Given the description of an element on the screen output the (x, y) to click on. 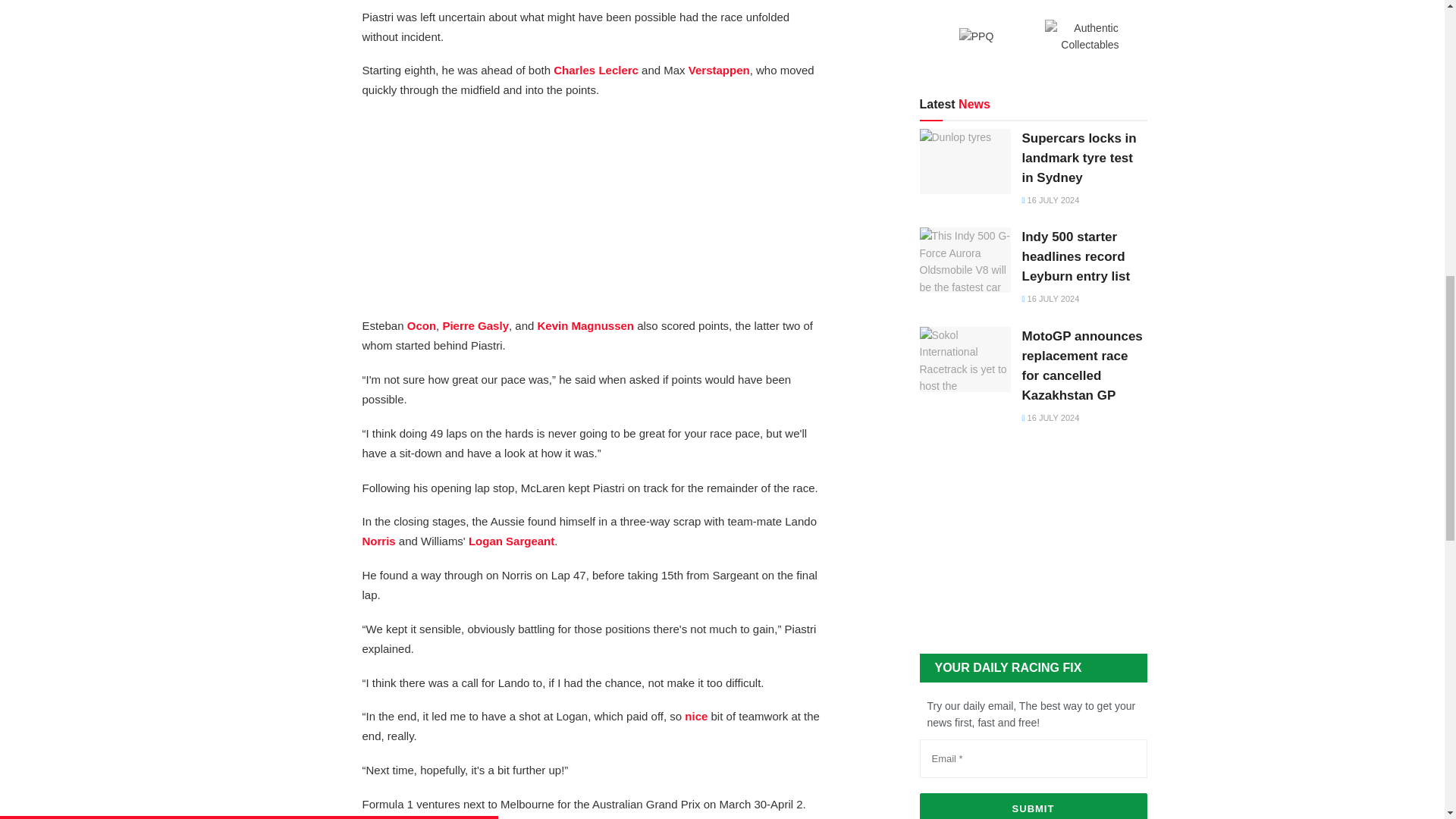
SUBMIT (1032, 806)
